Given the description of an element on the screen output the (x, y) to click on. 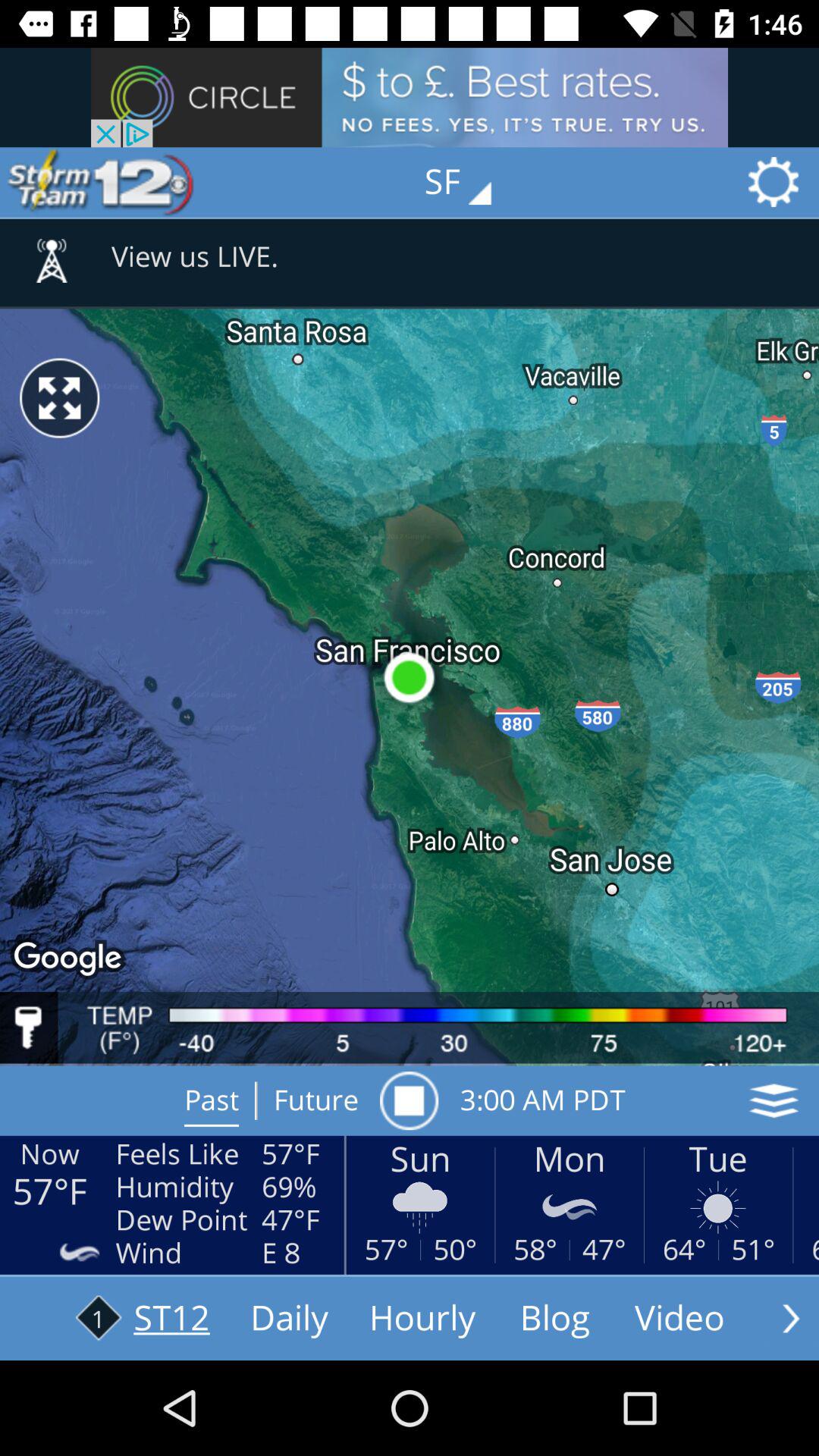
turn on item to the right of 4 00 am item (774, 1100)
